Given the description of an element on the screen output the (x, y) to click on. 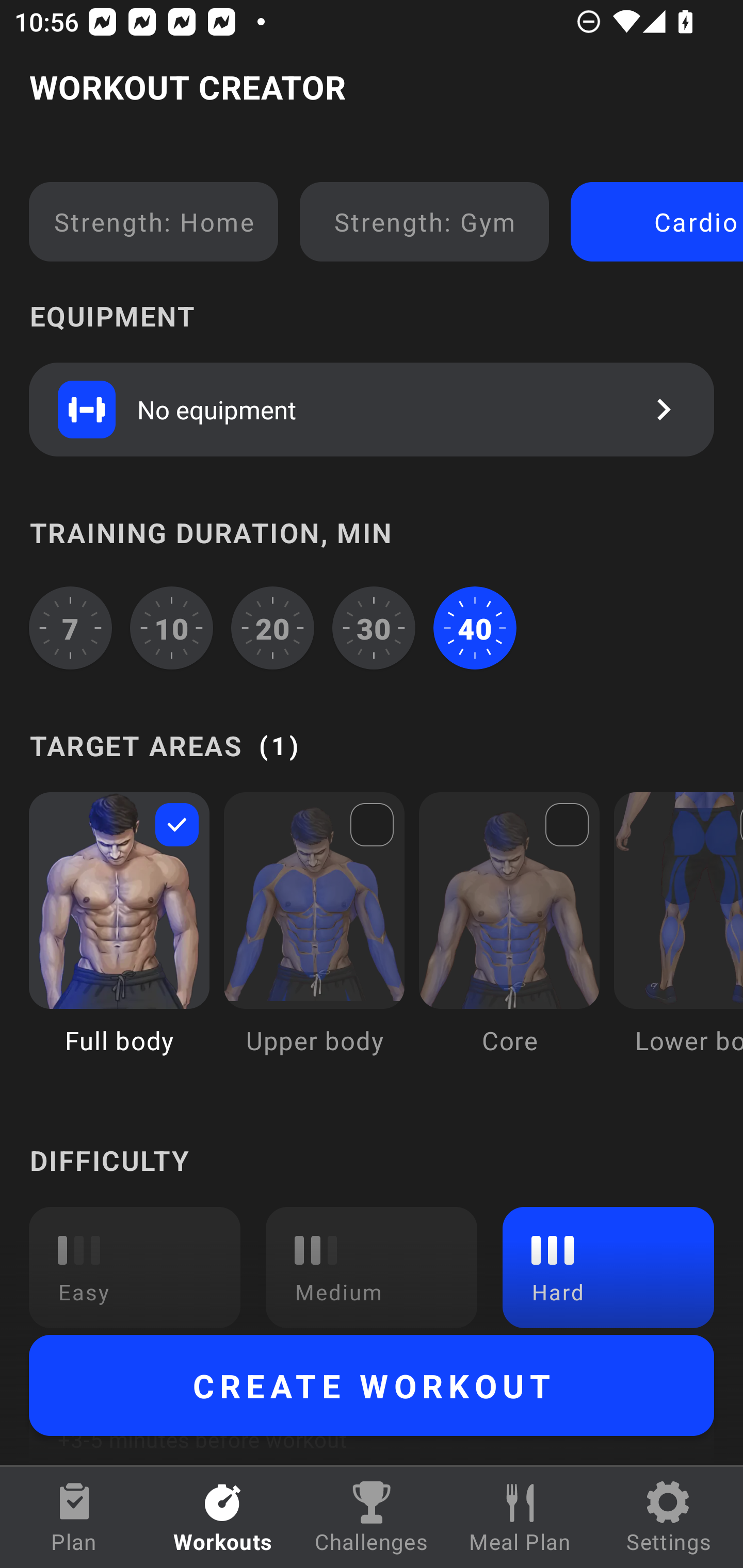
Strength: Home (153, 221)
Strength: Gym (423, 221)
No equipment (371, 409)
7 (70, 627)
10 (171, 627)
20 (272, 627)
30 (373, 627)
40 (474, 627)
Upper body (313, 937)
Core (509, 937)
Lower body (678, 937)
Easy (134, 1267)
Medium (371, 1267)
CREATE WORKOUT (371, 1385)
 Plan  (74, 1517)
 Challenges  (371, 1517)
 Meal Plan  (519, 1517)
 Settings  (668, 1517)
